Given the description of an element on the screen output the (x, y) to click on. 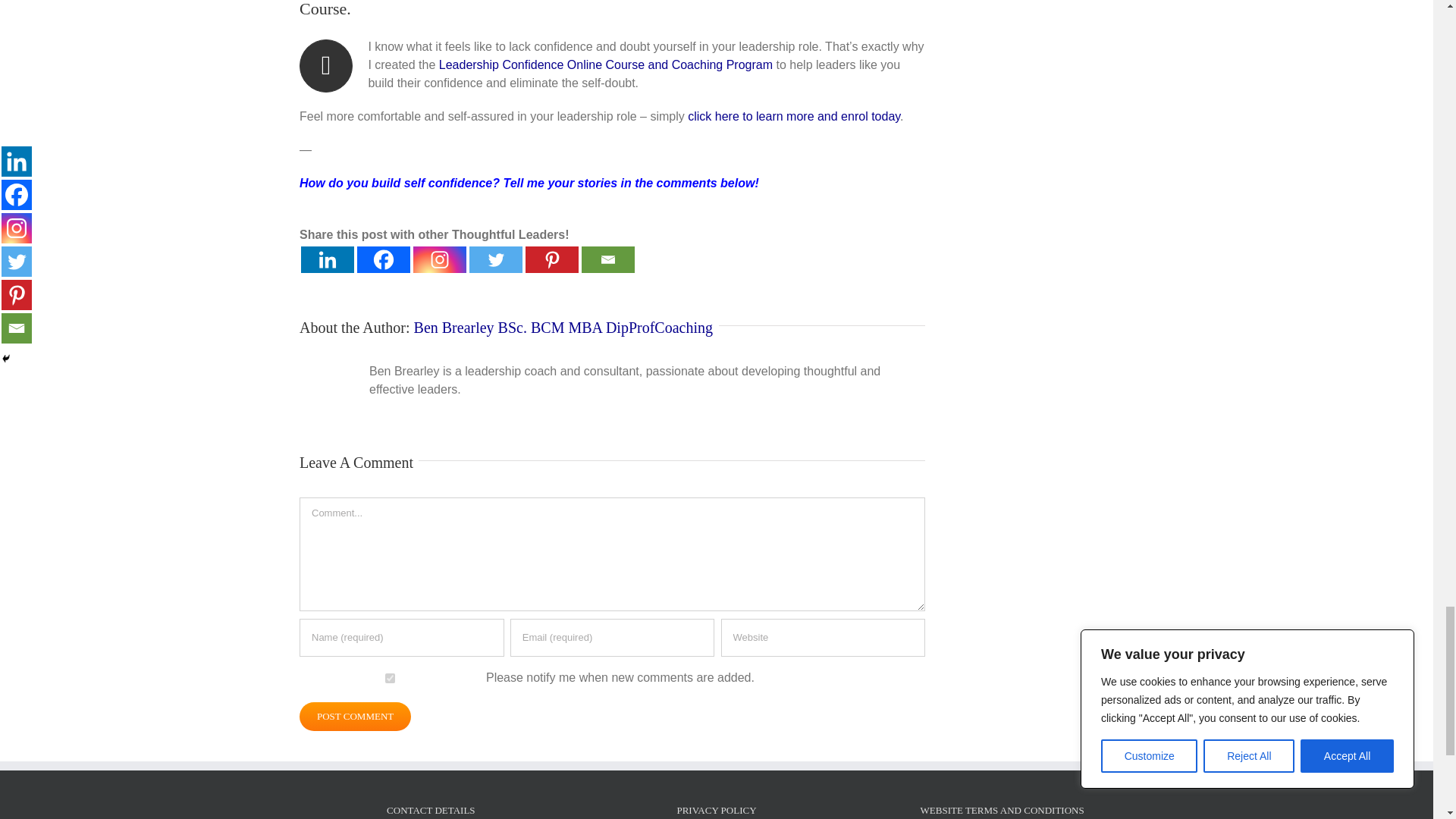
Linkedin (327, 259)
1 (389, 678)
Pinterest (551, 259)
Instagram (439, 259)
Email (607, 259)
Facebook (383, 259)
Post Comment (354, 716)
Twitter (495, 259)
